Given the description of an element on the screen output the (x, y) to click on. 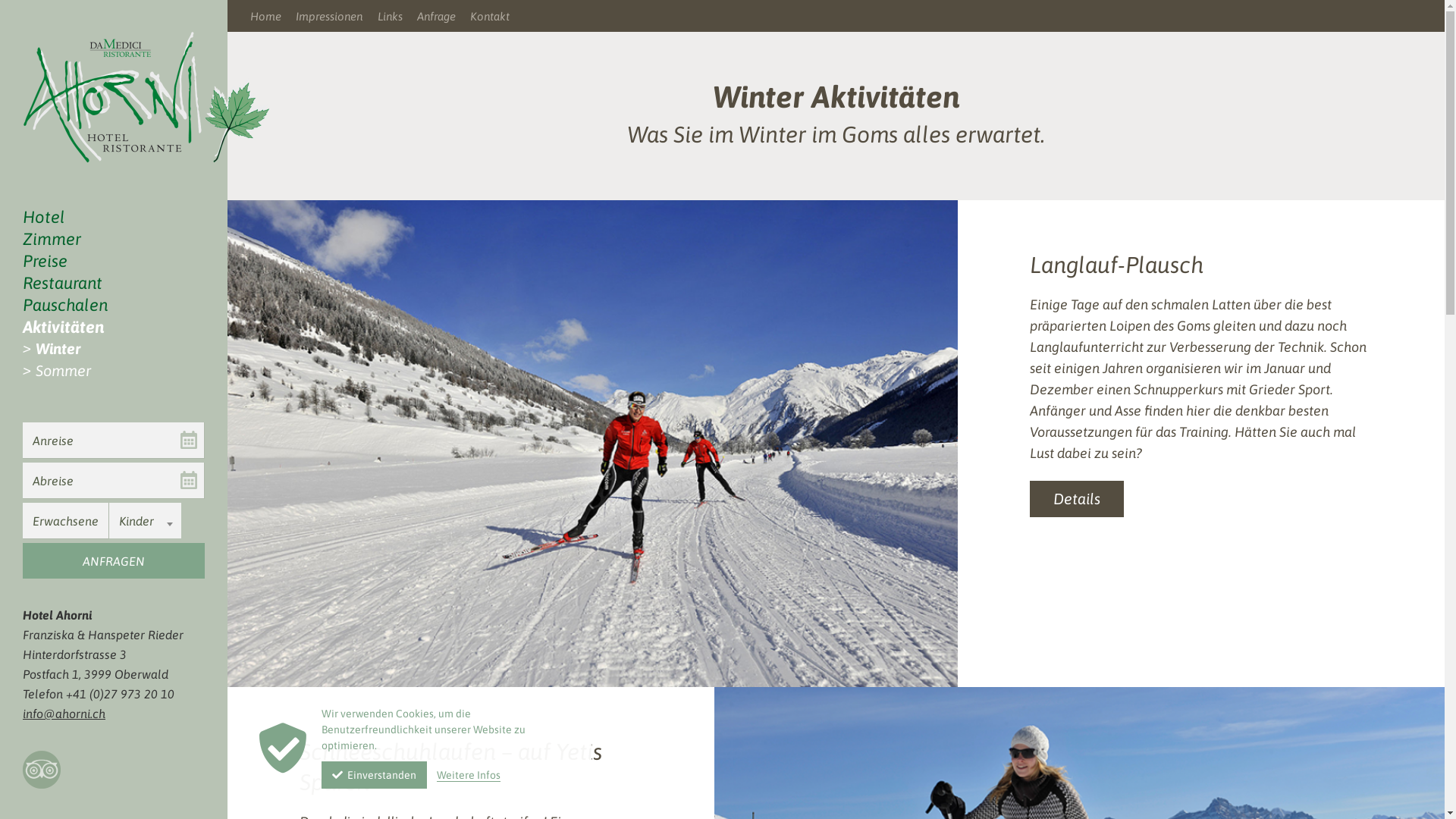
Pauschalen Element type: text (113, 306)
Anfrage Element type: text (443, 15)
Einverstanden Element type: text (373, 774)
Restaurant Element type: text (113, 284)
Details Element type: text (1076, 498)
Langlauf-Plausch Element type: text (1116, 264)
Preise Element type: text (113, 262)
Home Element type: text (272, 15)
Winter Element type: text (119, 350)
Links Element type: text (397, 15)
Impressionen Element type: text (335, 15)
Zimmer Element type: text (113, 240)
Sommer Element type: text (119, 372)
Weitere Infos Element type: text (468, 775)
Anfragen Element type: text (113, 560)
info@ahorni.ch Element type: text (63, 713)
Hotel Element type: text (113, 218)
Kontakt Element type: text (497, 15)
